Given the description of an element on the screen output the (x, y) to click on. 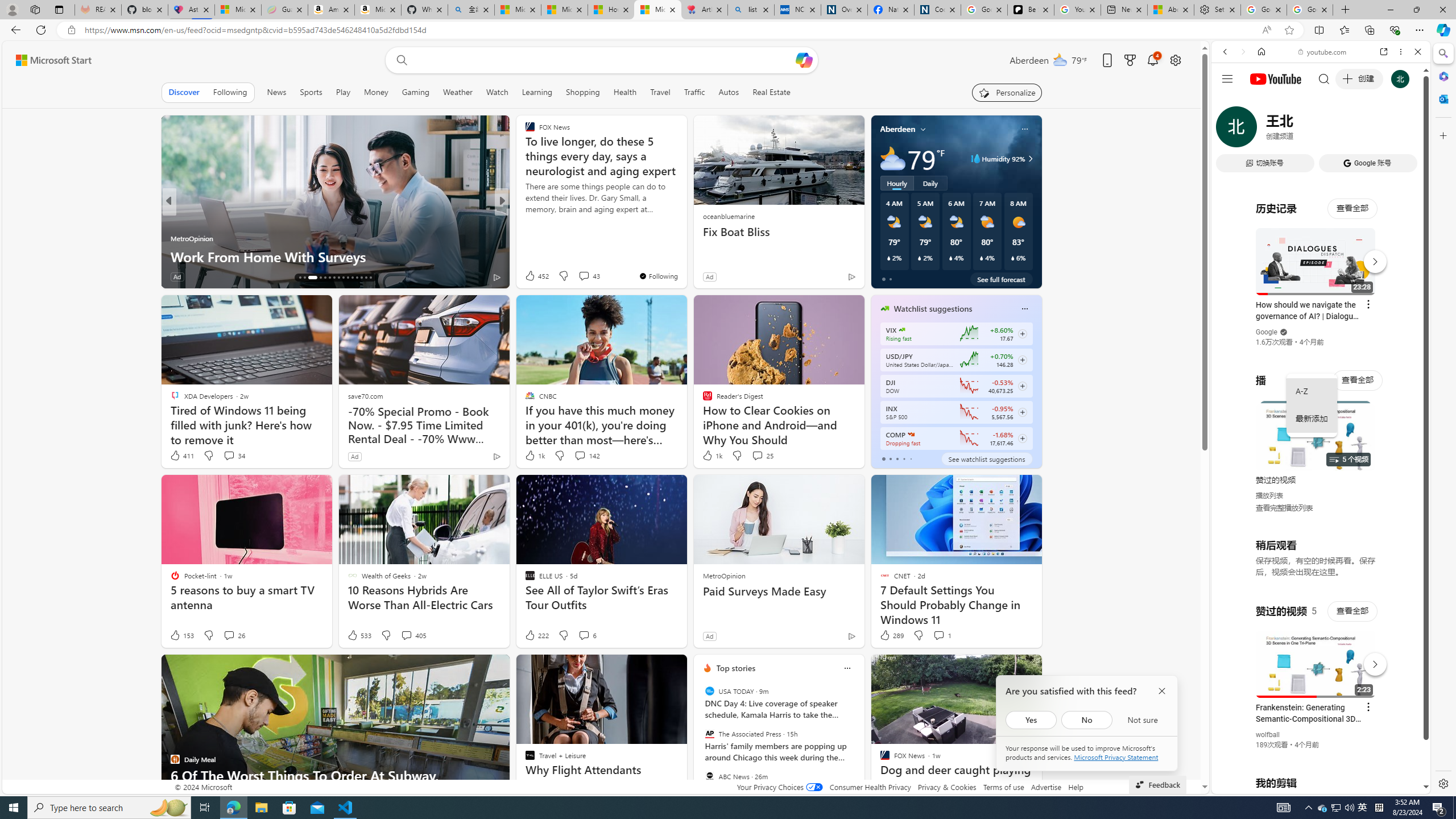
Ad Choice (851, 635)
View comments 67 Comment (580, 276)
Feedback (1157, 784)
Consumer Health Privacy (870, 786)
View comments 43 Comment (583, 275)
Watchlist suggestions (932, 308)
Class: weather-arrow-glyph (1029, 158)
Autos (729, 92)
